Given the description of an element on the screen output the (x, y) to click on. 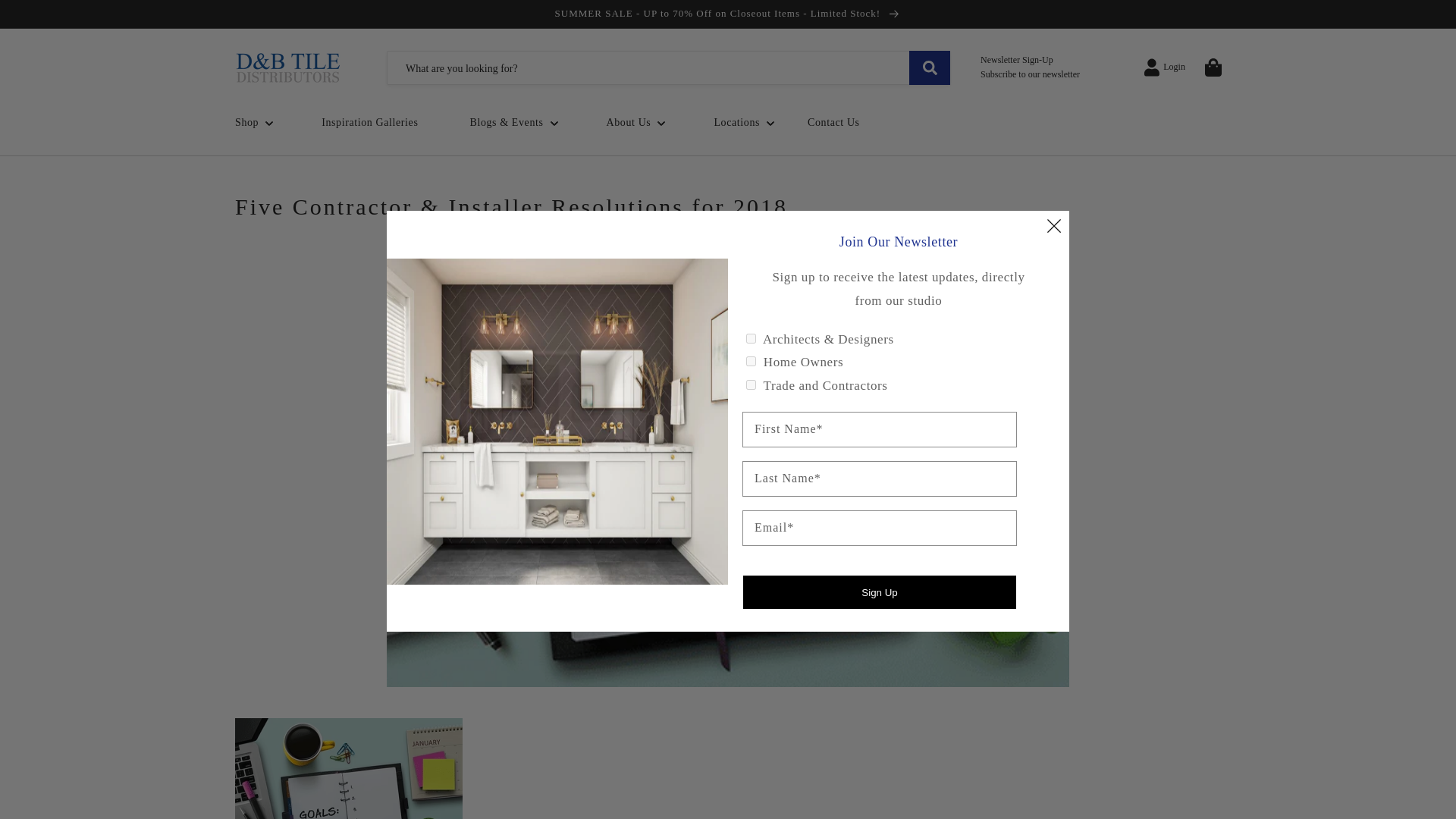
Skip to content (45, 16)
Trade Contractors (750, 384)
Home Owners (750, 361)
Architects Designers (750, 338)
